Given the description of an element on the screen output the (x, y) to click on. 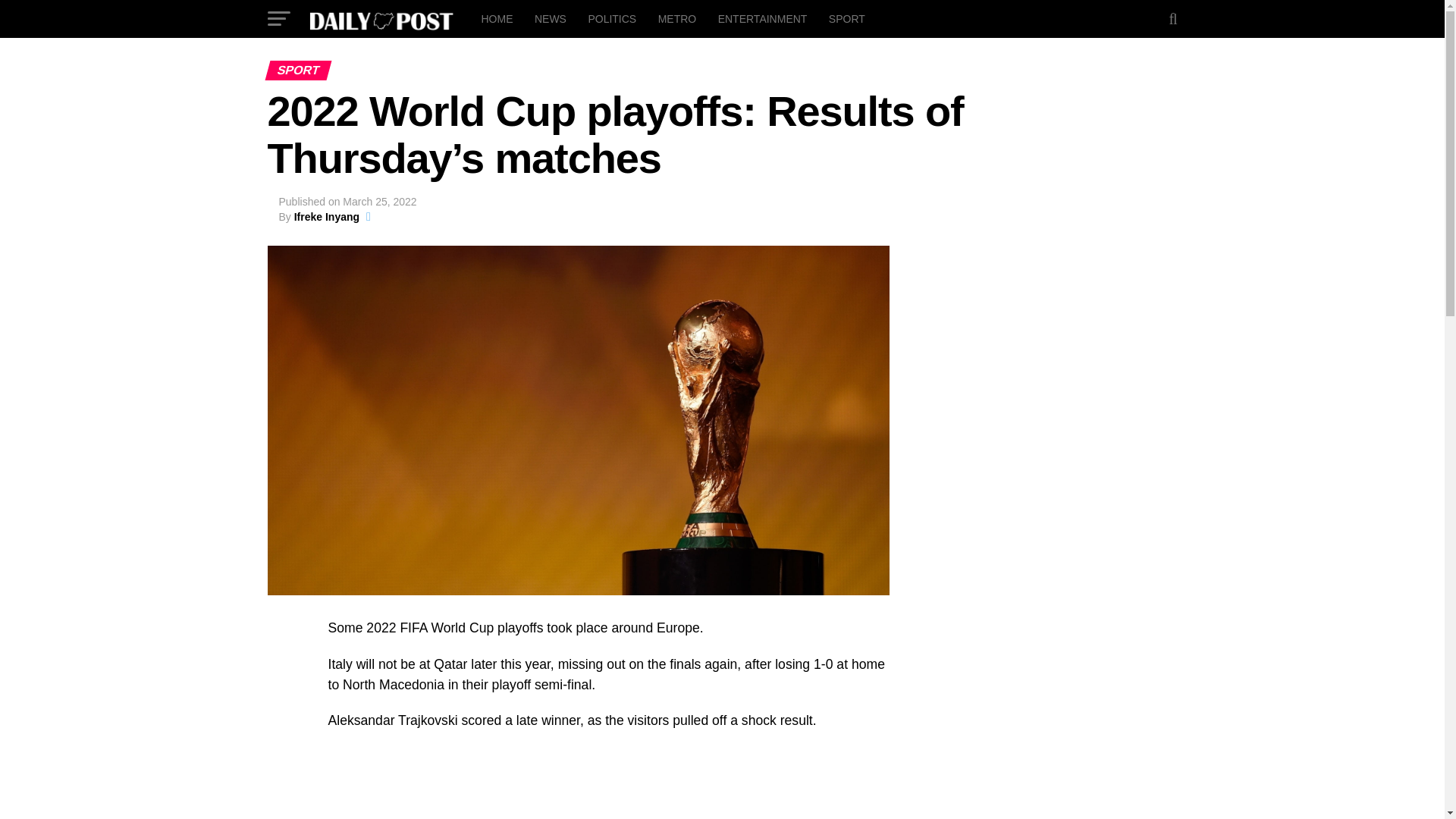
NEWS (550, 18)
SPORT (847, 18)
Ifreke Inyang (326, 216)
POLITICS (611, 18)
HOME (496, 18)
ENTERTAINMENT (762, 18)
Posts by Ifreke Inyang (326, 216)
METRO (677, 18)
